Given the description of an element on the screen output the (x, y) to click on. 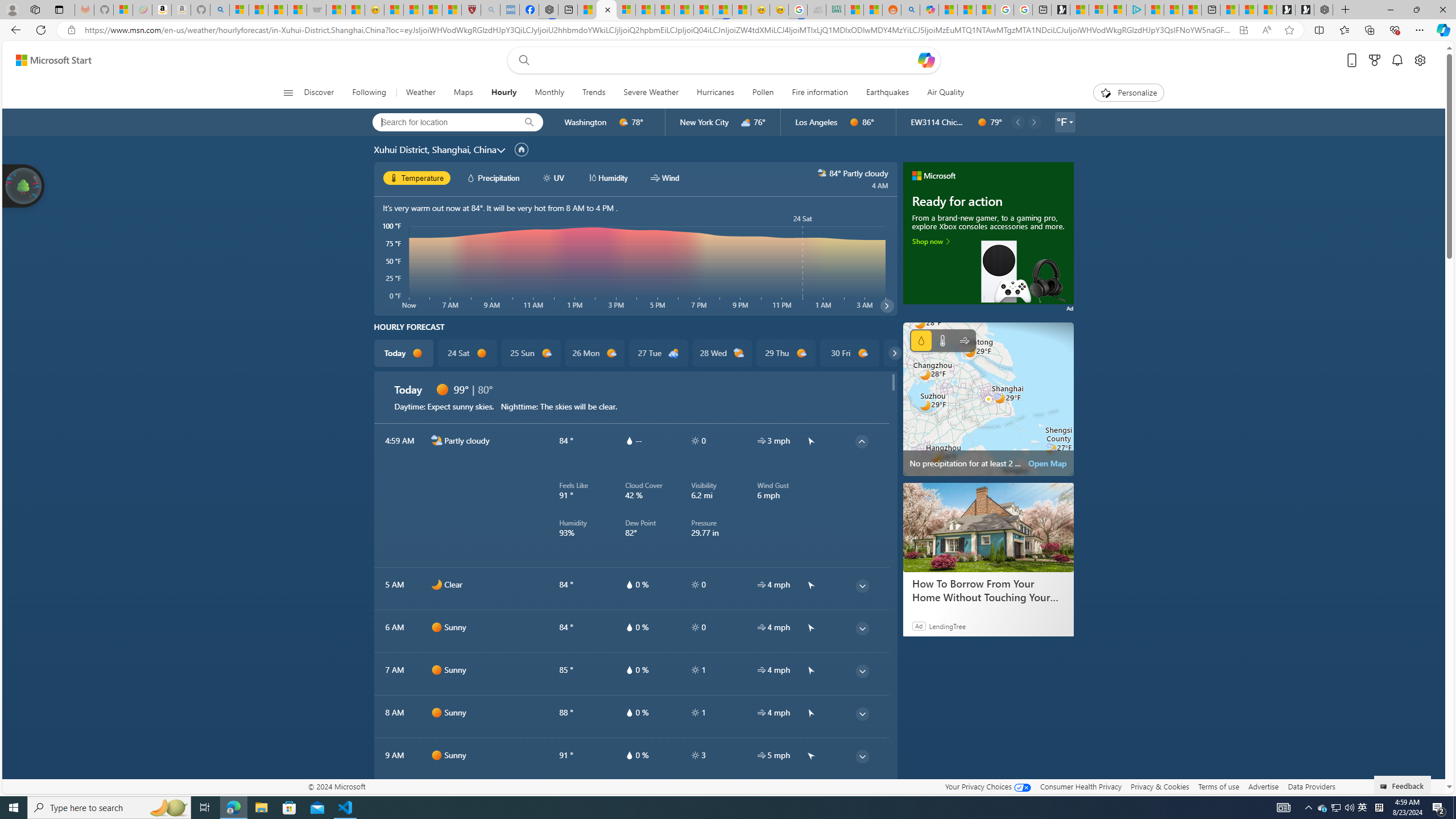
Robert H. Shmerling, MD - Harvard Health (471, 9)
Privacy & Cookies (1160, 785)
hourlyChart/temperatureBlack Temperature (416, 178)
static map image of vector map (988, 398)
n2000 (436, 440)
Monthly (549, 92)
locationBar/search (529, 121)
No precipitation for at least 2 hours (988, 398)
